Given the description of an element on the screen output the (x, y) to click on. 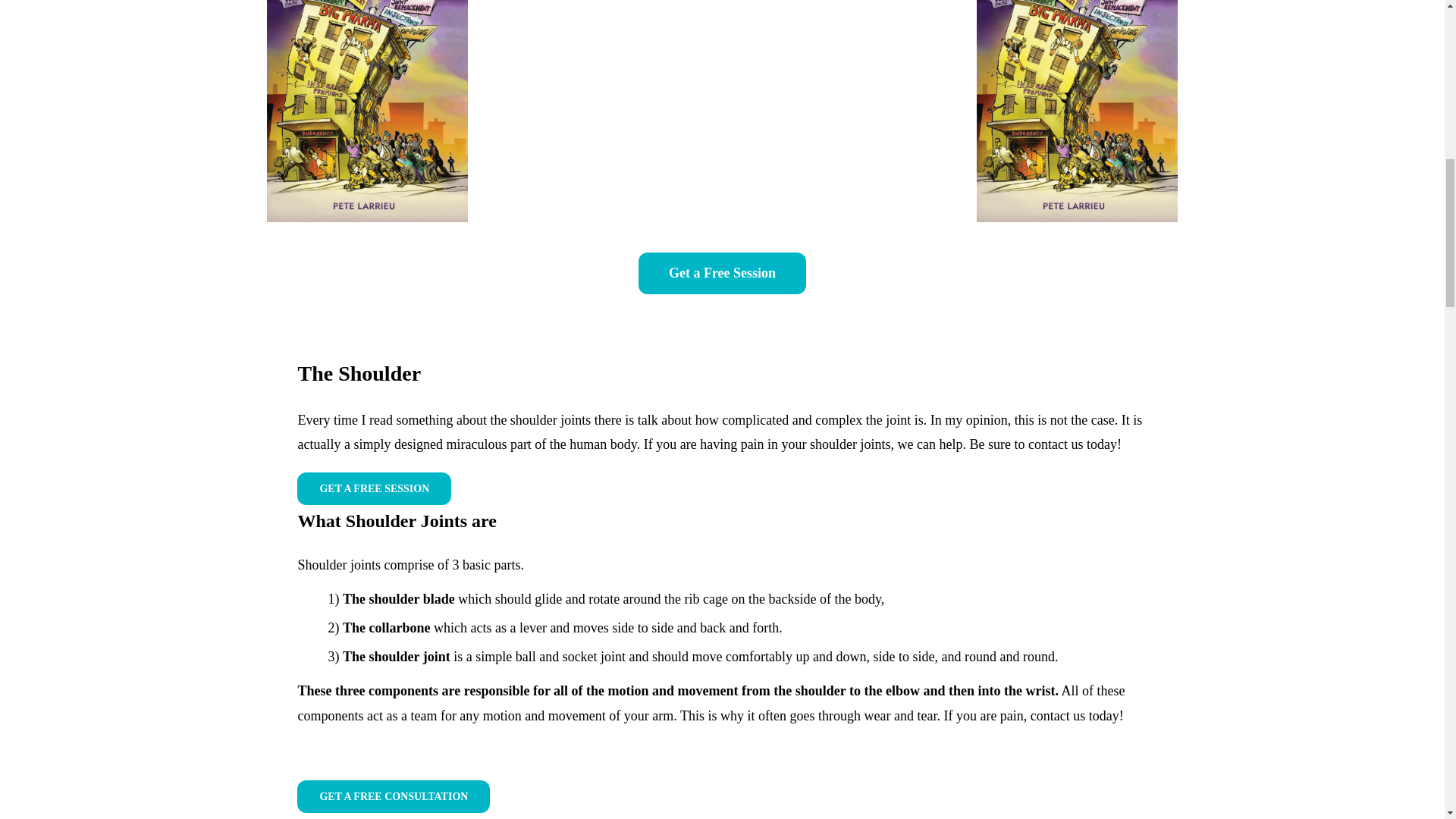
Pain Free Secrets (1076, 110)
Pain Free Secrets (366, 110)
YouTube video player 1 (721, 90)
